Given the description of an element on the screen output the (x, y) to click on. 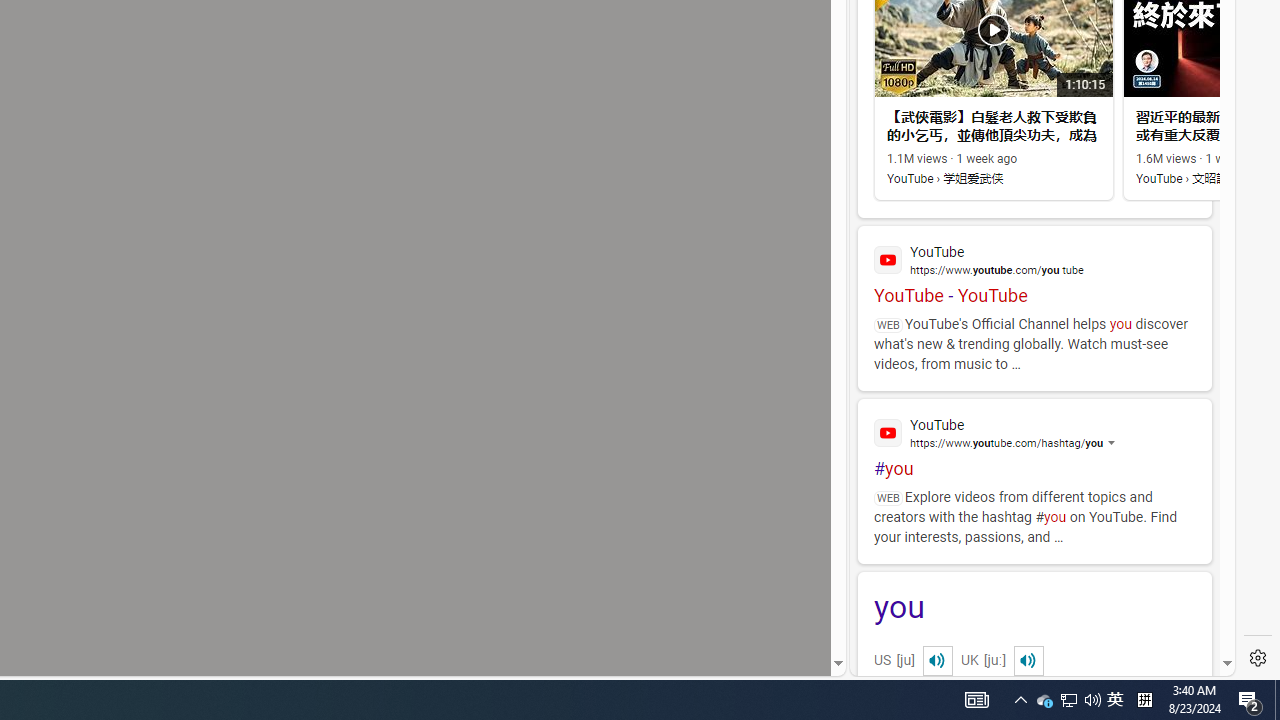
you (1034, 609)
YouTube (1034, 432)
Click to scroll right (1196, 83)
Class: dict_pnIcon rms_img (1028, 660)
Actions for this site (1131, 443)
US[ju] (917, 660)
YouTube - YouTube (1034, 266)
#you (1034, 439)
Global web icon (888, 432)
